Given the description of an element on the screen output the (x, y) to click on. 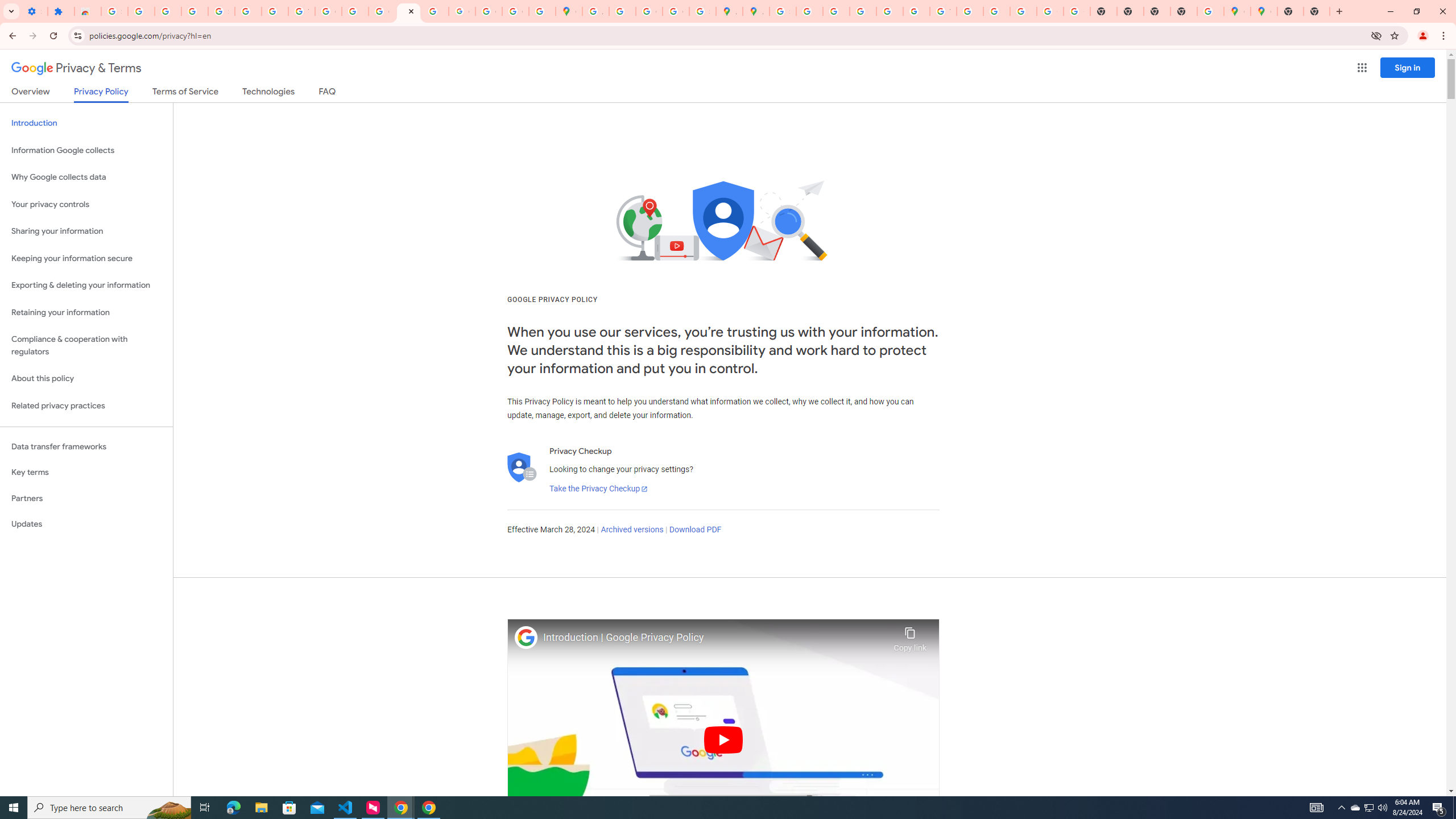
Reload (52, 35)
Exporting & deleting your information (86, 284)
Updates (86, 524)
Sharing your information (86, 230)
Keeping your information secure (86, 258)
Privacy Help Center - Policies Help (836, 11)
Introduction (86, 122)
Search tabs (10, 11)
Address and search bar (726, 35)
Information Google collects (86, 150)
Bookmark this tab (1393, 35)
Sign in - Google Accounts (782, 11)
